Given the description of an element on the screen output the (x, y) to click on. 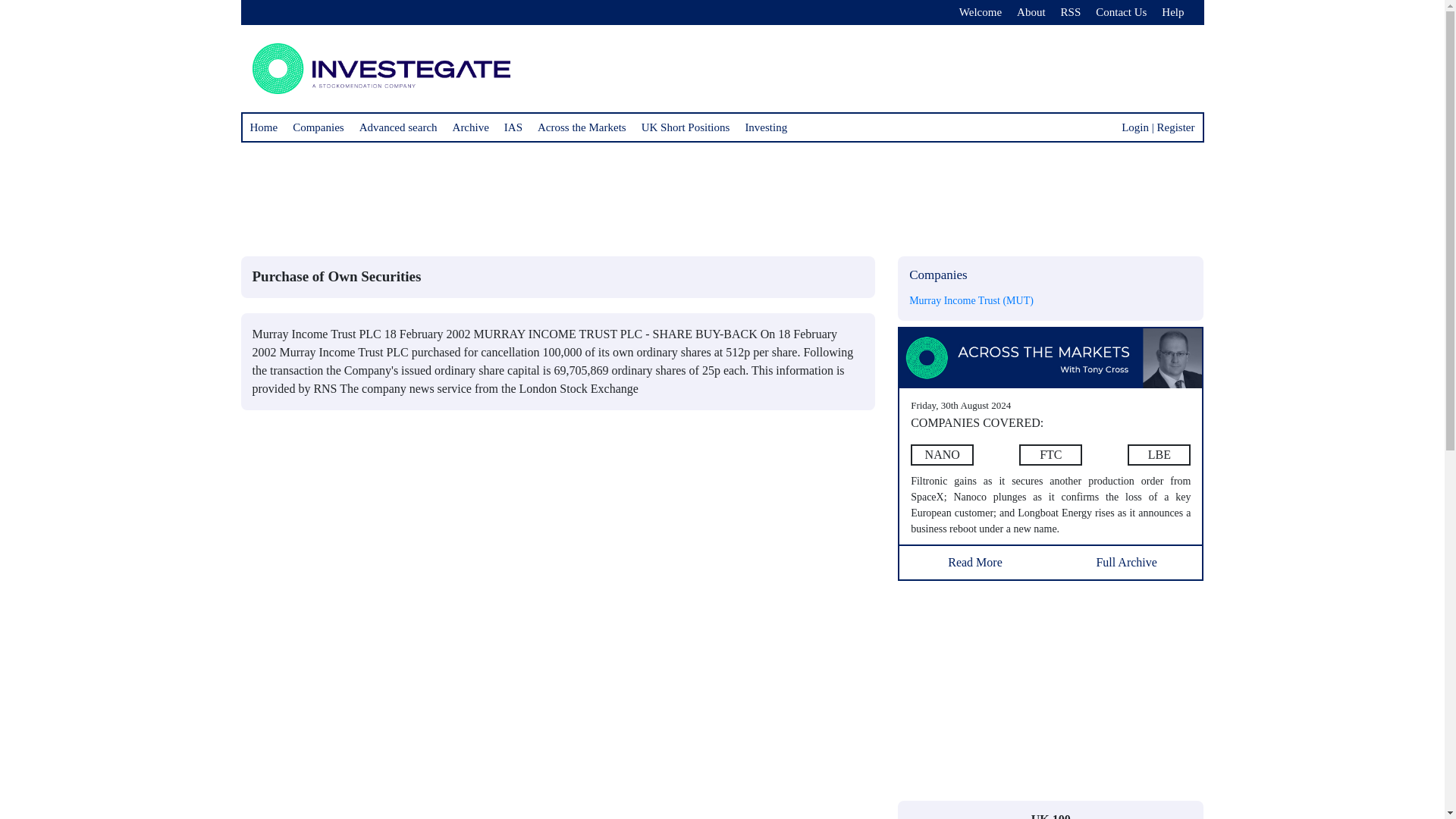
Companies (318, 127)
About (1030, 12)
IAS (512, 127)
Archive (470, 127)
FTC (1050, 455)
Welcome (980, 12)
Home (264, 127)
Full Archive (1126, 558)
See the full archive HERE (1126, 558)
